Given the description of an element on the screen output the (x, y) to click on. 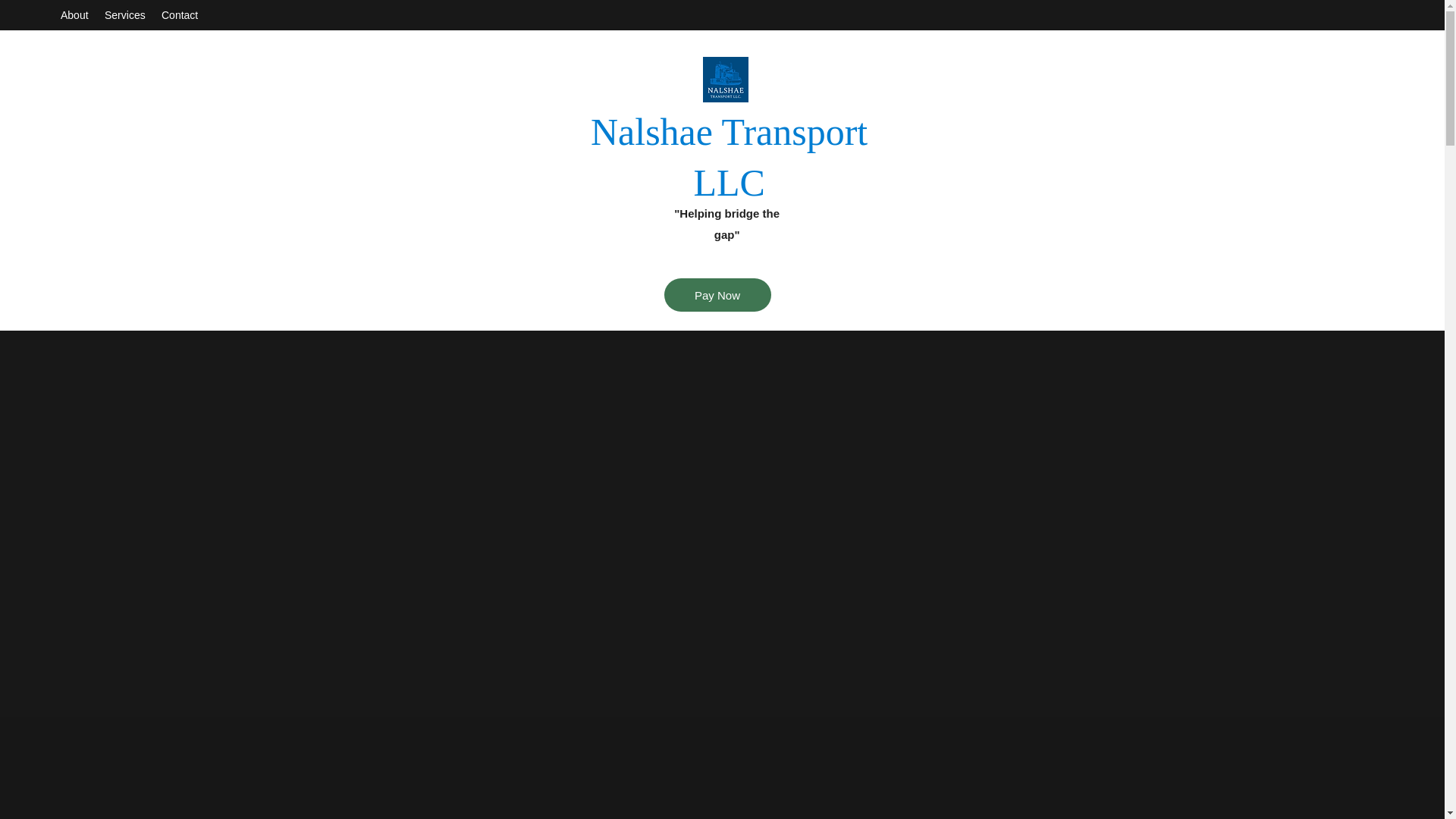
Contact (180, 15)
Nalshae Transport LLC (729, 156)
Services (125, 15)
Pay Now (717, 295)
About (74, 15)
